Given the description of an element on the screen output the (x, y) to click on. 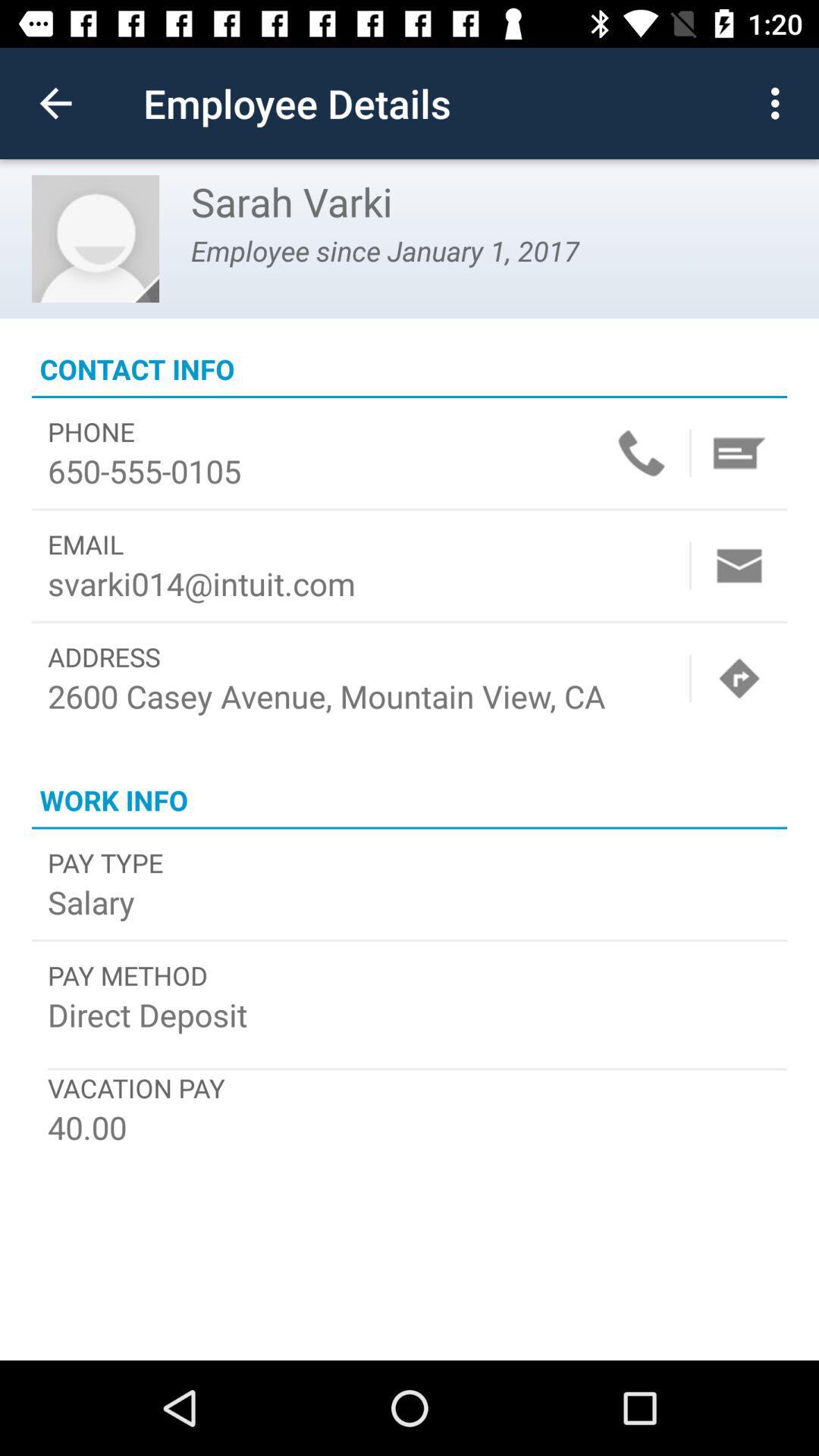
profile photo (95, 238)
